Given the description of an element on the screen output the (x, y) to click on. 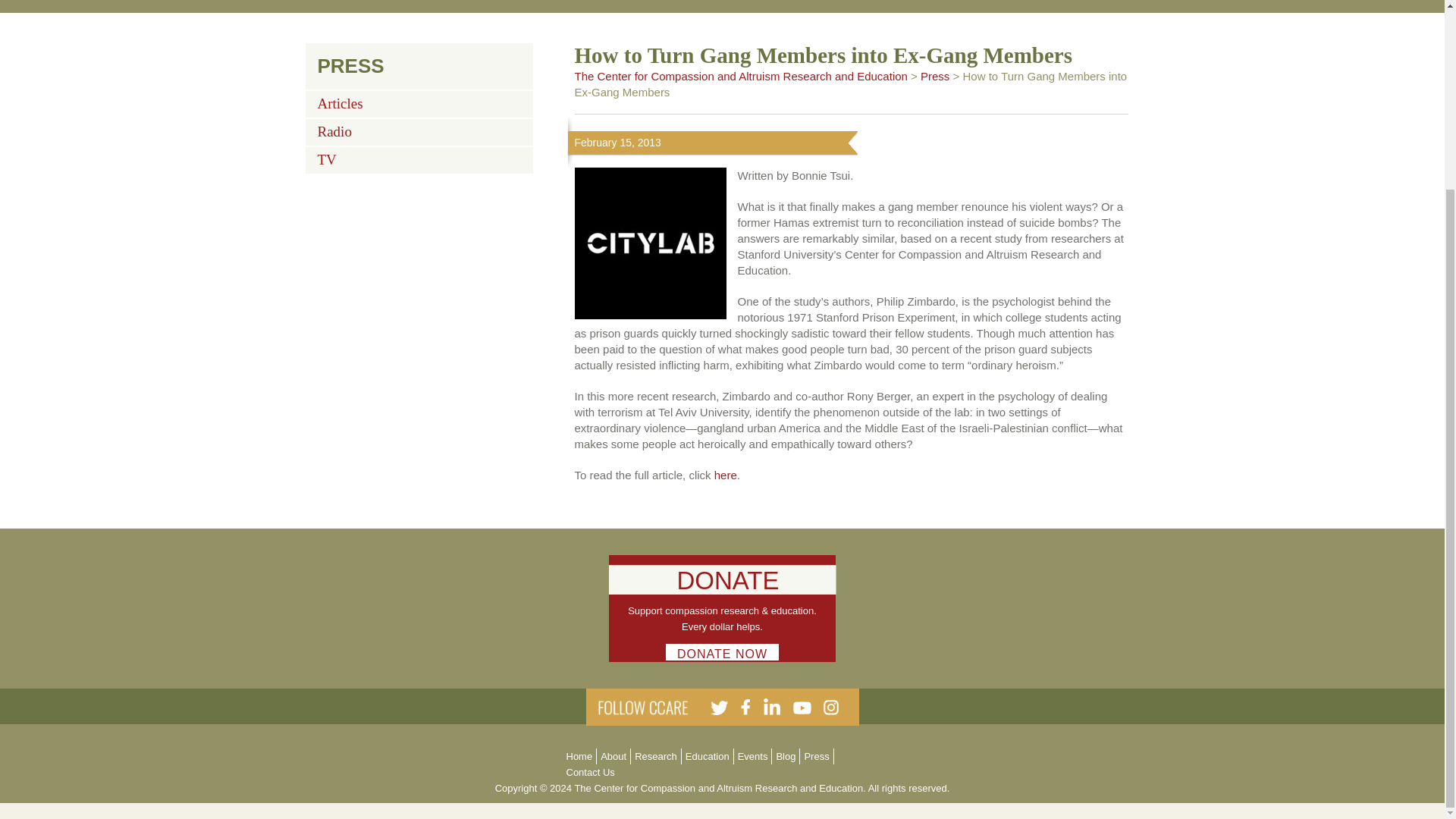
Events (753, 756)
here (725, 474)
Blog (785, 756)
Go to Press. (934, 75)
Press (815, 756)
Research (655, 756)
Radio (333, 128)
Articles (339, 100)
